Given the description of an element on the screen output the (x, y) to click on. 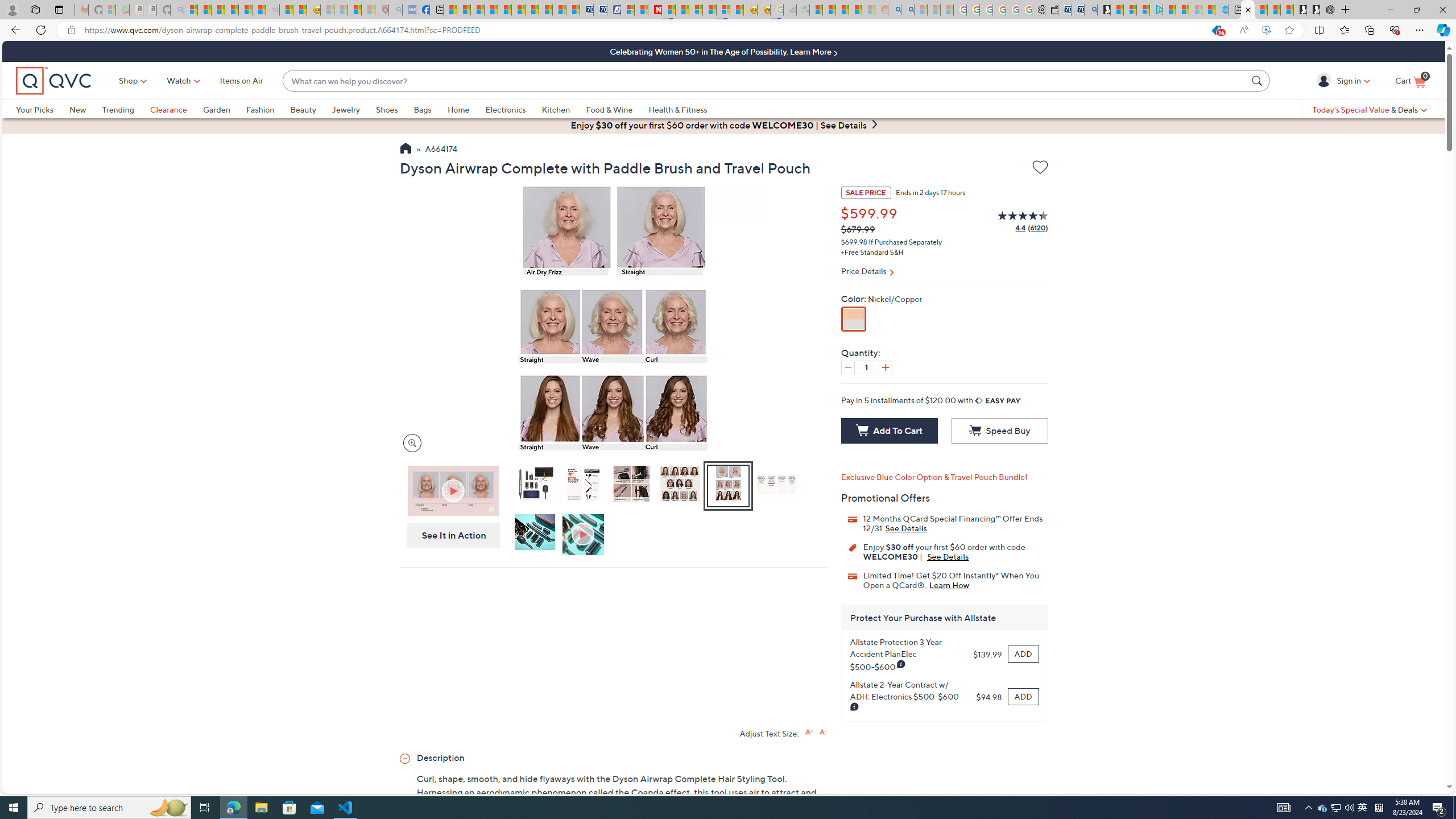
Health & Fitness (680, 109)
A664174 (441, 149)
SALE PRICE (865, 192)
Your Picks (34, 109)
Beauty (302, 109)
Trending (125, 109)
Add to Wish List (1040, 168)
